Given the description of an element on the screen output the (x, y) to click on. 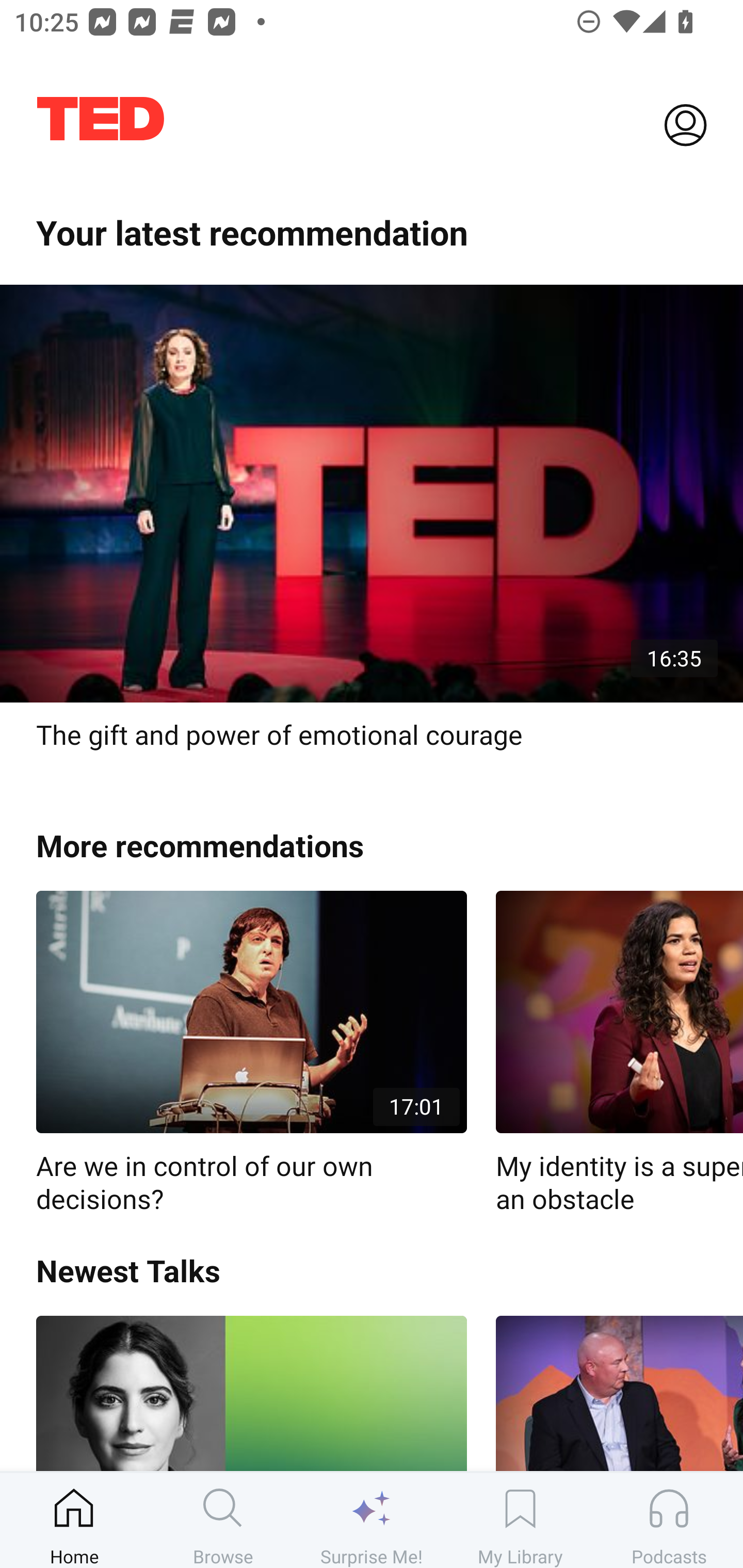
17:01 Are we in control of our own decisions? (251, 1053)
My identity is a superpower -- not an obstacle (619, 1053)
Home (74, 1520)
Browse (222, 1520)
Surprise Me! (371, 1520)
My Library (519, 1520)
Podcasts (668, 1520)
